Given the description of an element on the screen output the (x, y) to click on. 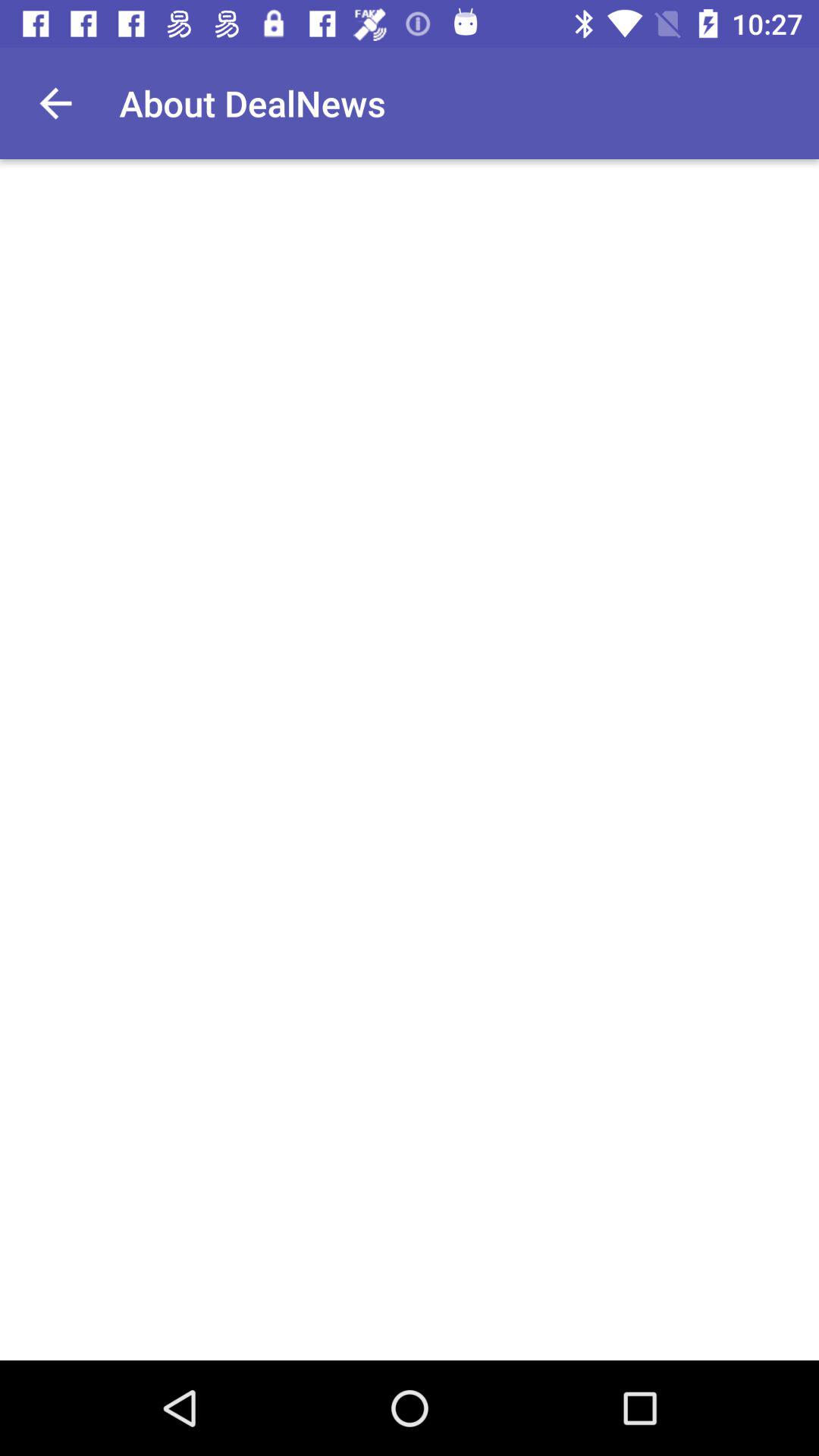
select the icon to the left of the about dealnews item (55, 103)
